Given the description of an element on the screen output the (x, y) to click on. 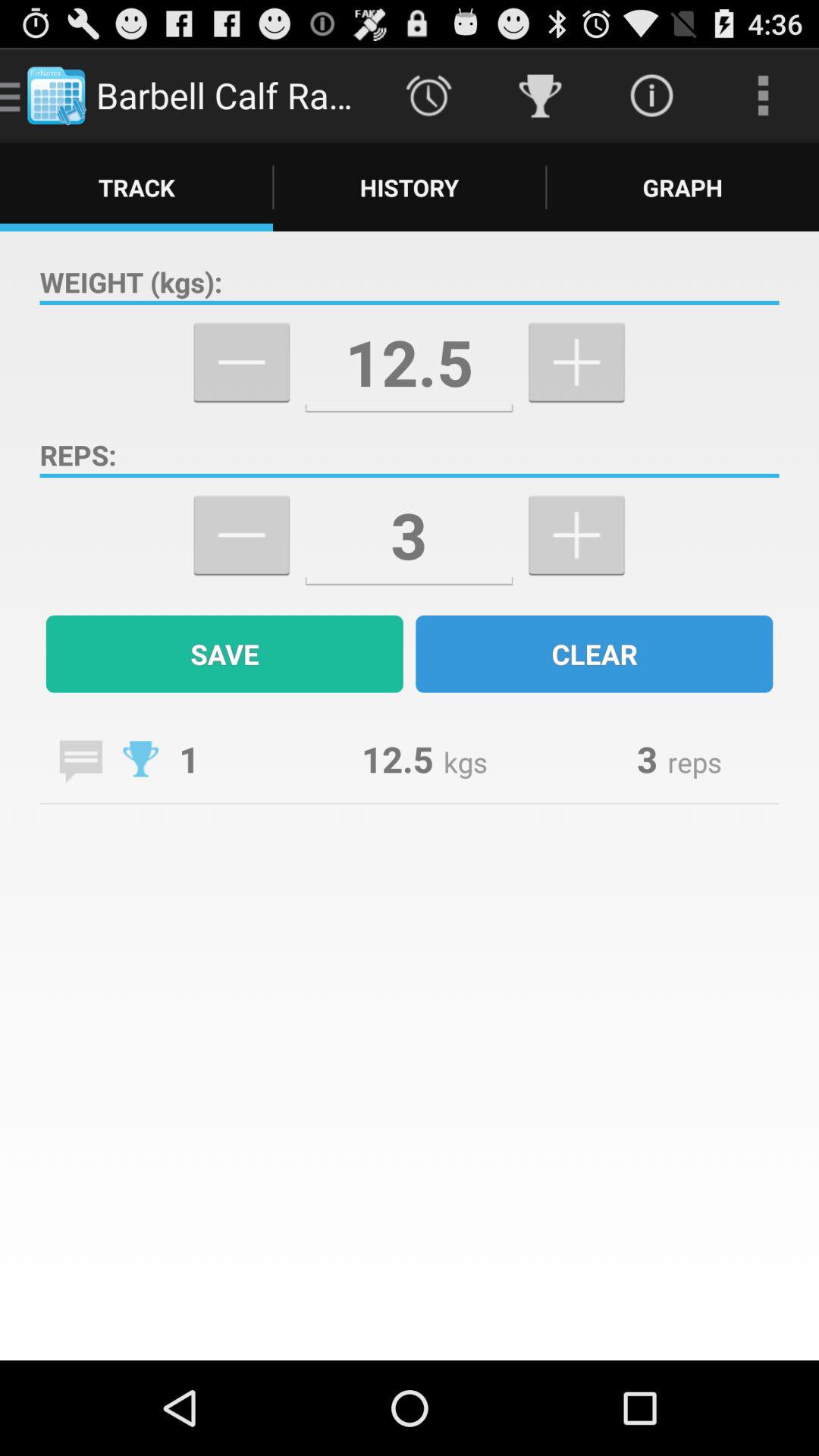
click to see achievements (140, 758)
